Given the description of an element on the screen output the (x, y) to click on. 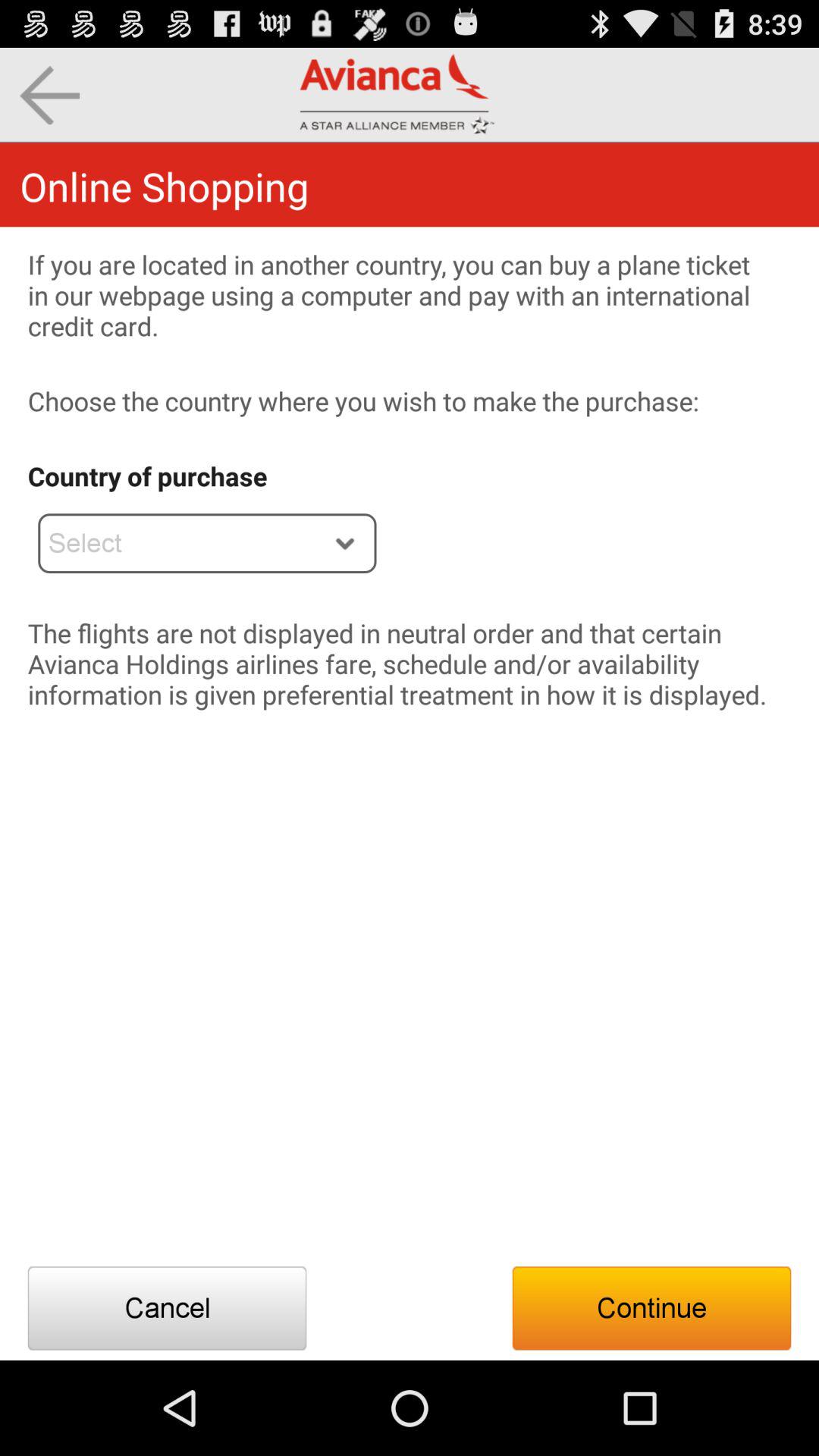
choose icon next to the continue (166, 1308)
